Given the description of an element on the screen output the (x, y) to click on. 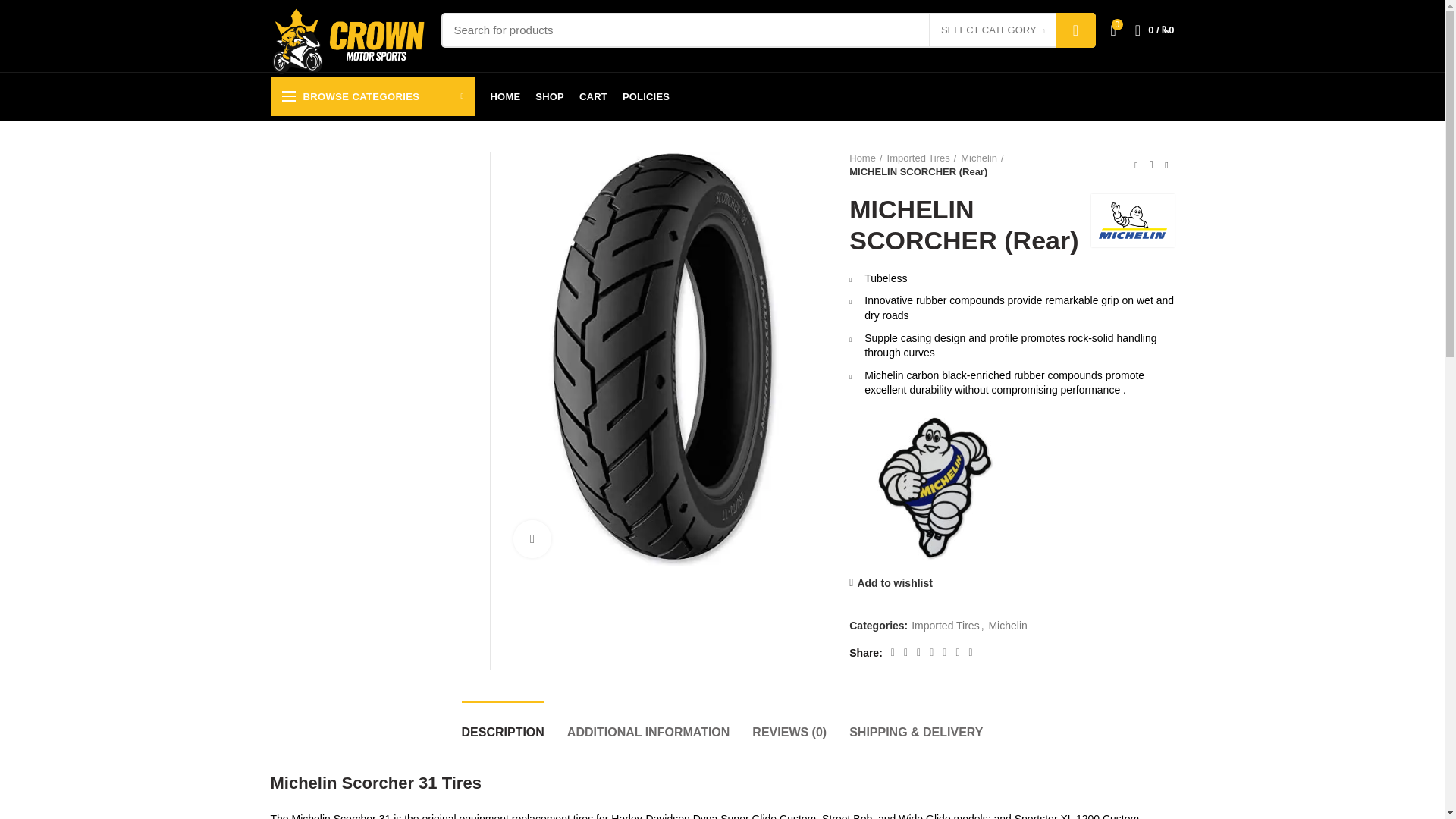
Shopping cart (1154, 30)
SELECT CATEGORY (993, 30)
SELECT CATEGORY (992, 29)
